Given the description of an element on the screen output the (x, y) to click on. 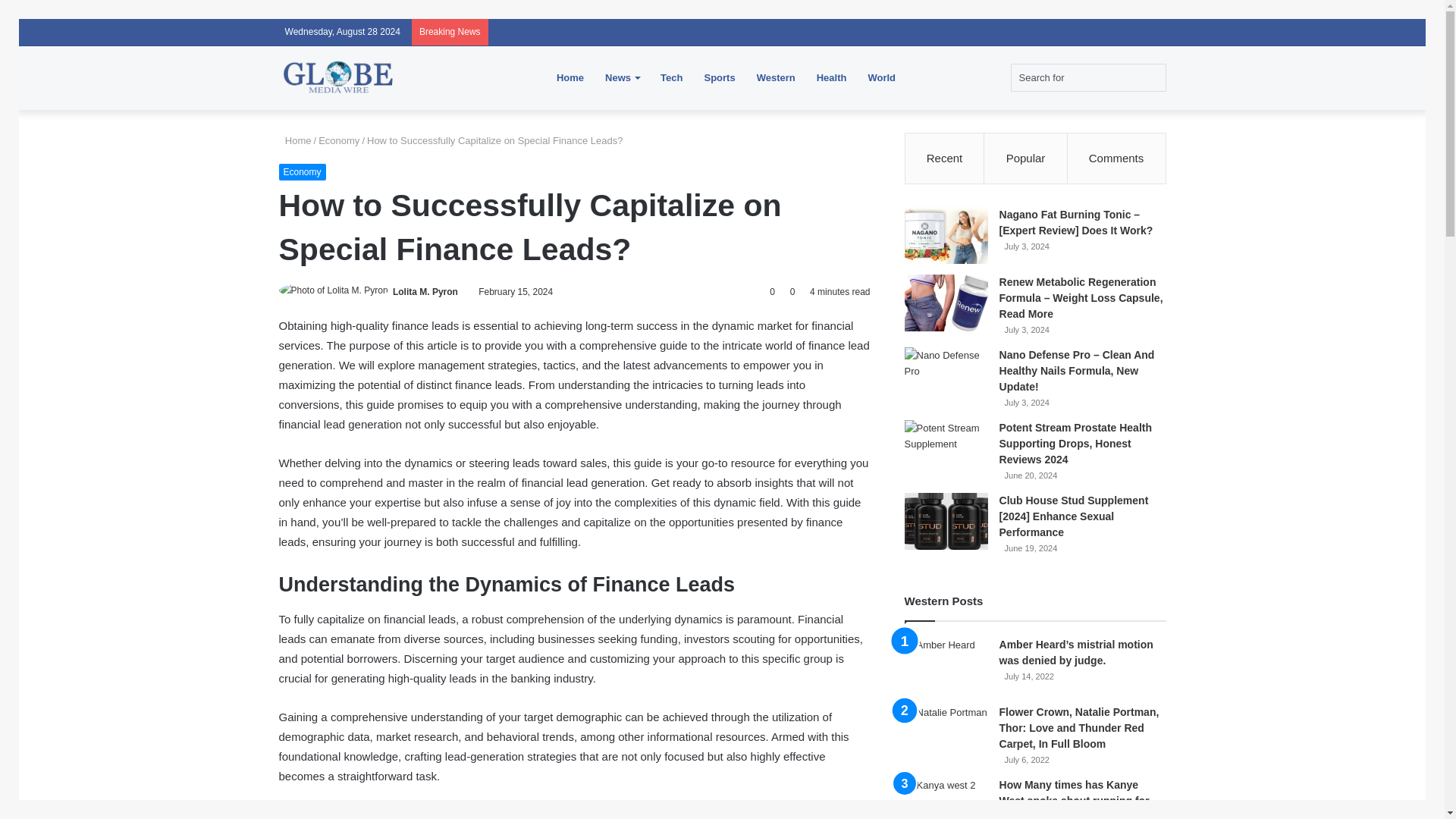
Western (775, 77)
Home (295, 140)
Globe Media Wire (338, 77)
Lolita M. Pyron (425, 291)
Economy (302, 171)
Economy (338, 140)
Search for (1088, 77)
Lolita M. Pyron (425, 291)
